Given the description of an element on the screen output the (x, y) to click on. 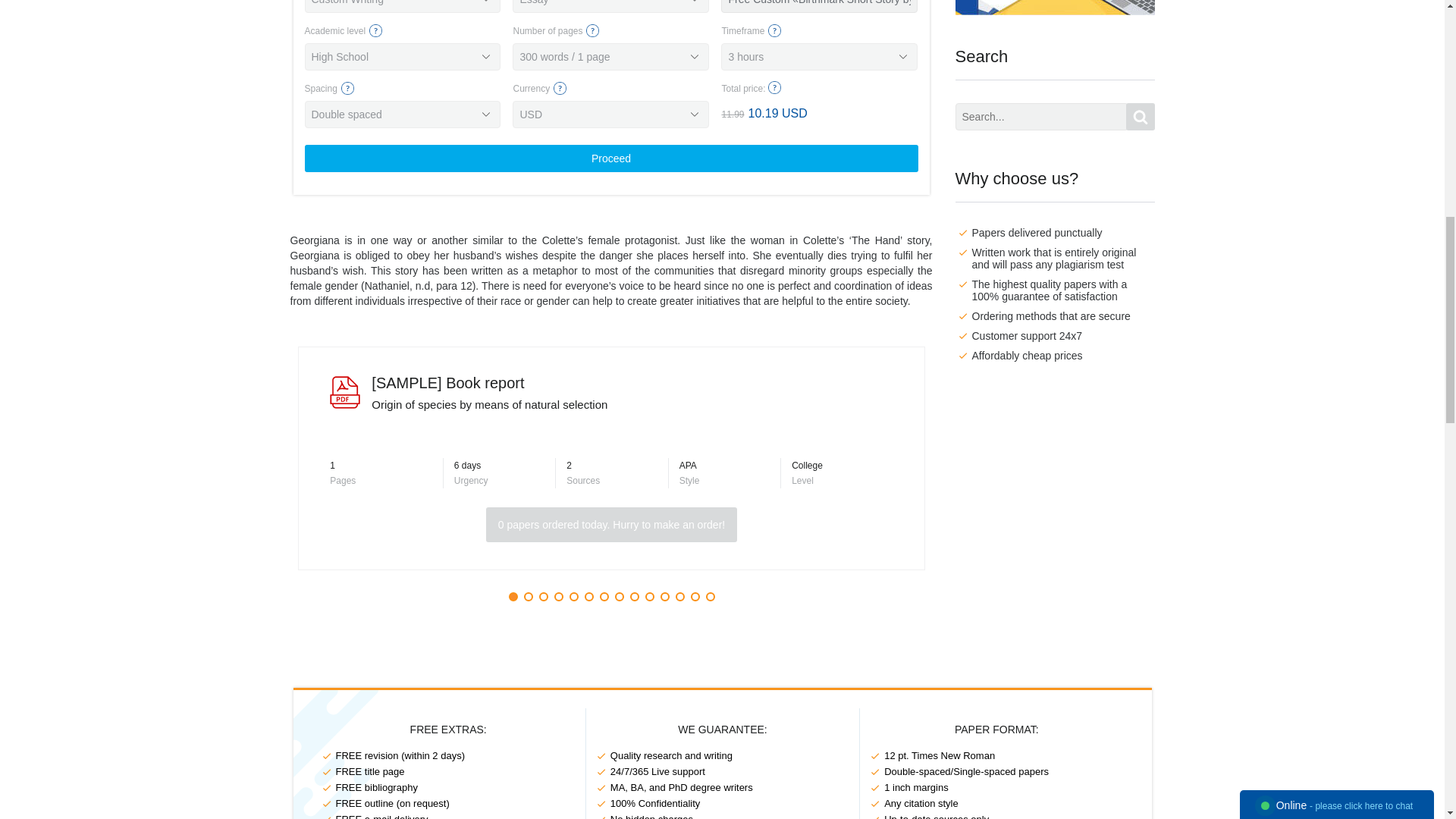
Discounts (1054, 7)
